Given the description of an element on the screen output the (x, y) to click on. 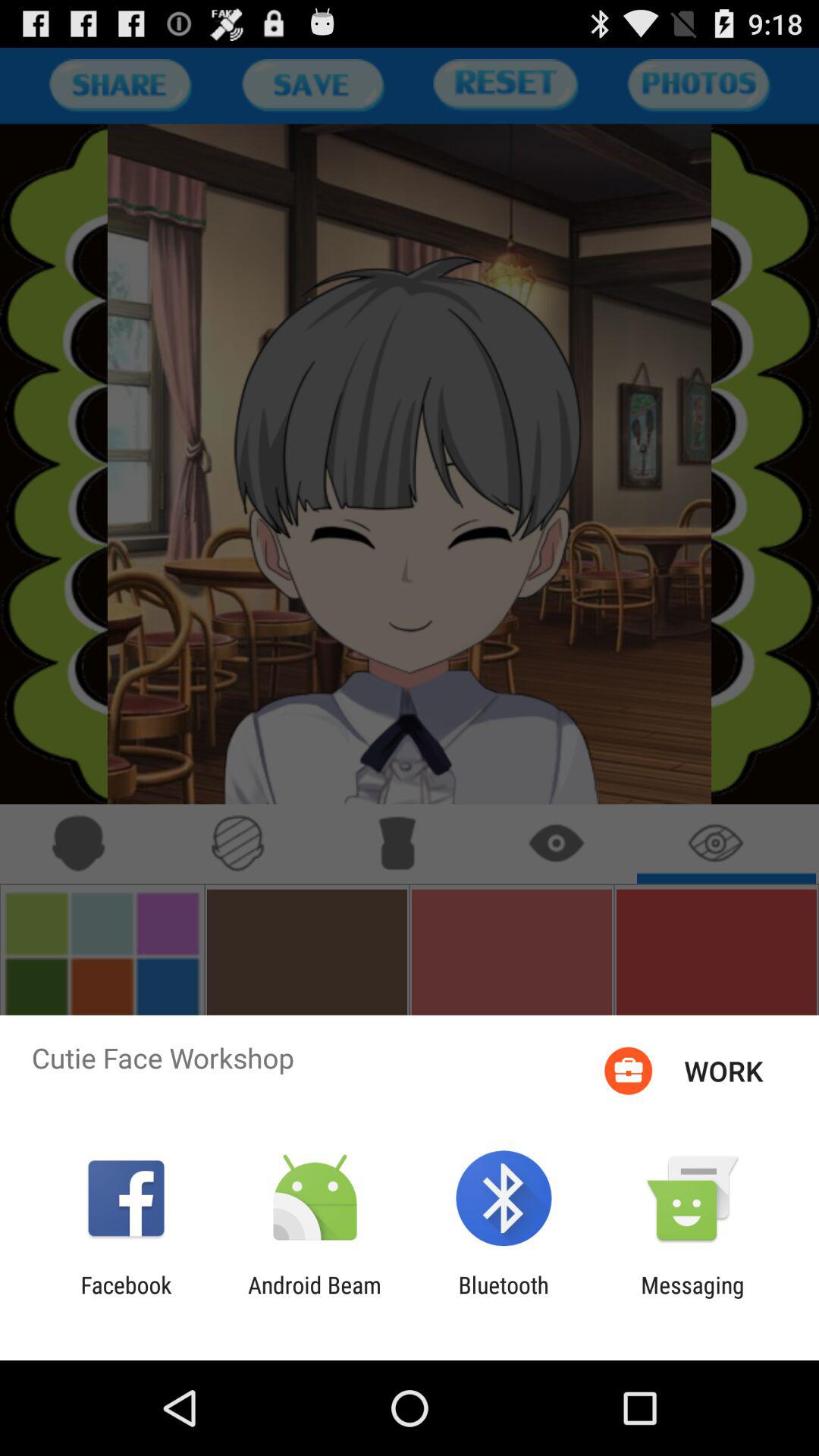
press the item next to bluetooth app (314, 1298)
